Given the description of an element on the screen output the (x, y) to click on. 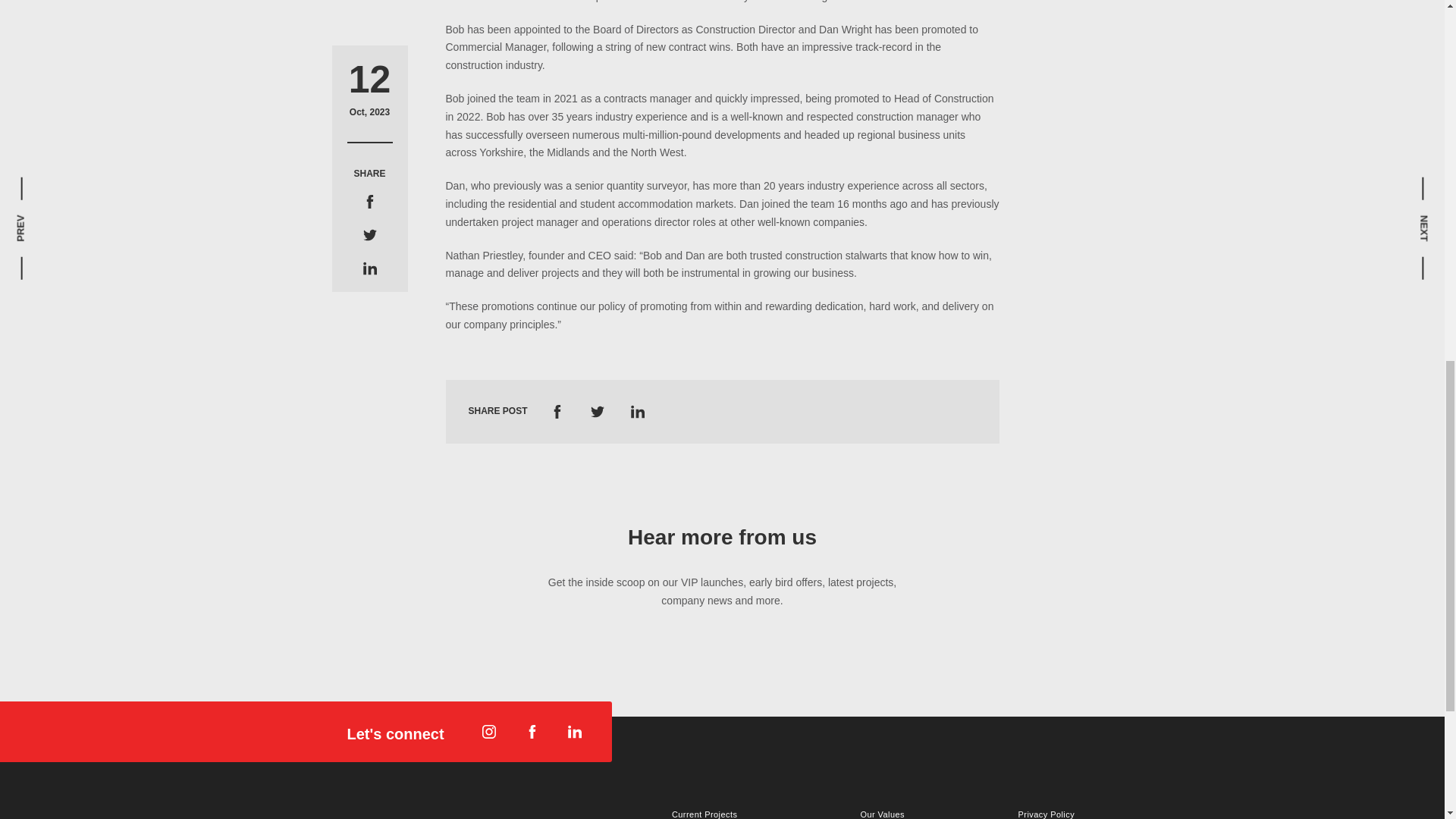
Instagram (488, 730)
LinkedIn (368, 209)
Our Values (893, 813)
Facebook (531, 730)
Twitter (597, 410)
LinkedIn (637, 410)
Facebook (368, 143)
Facebook (557, 410)
Current Projects (719, 813)
Twitter (368, 176)
